Given the description of an element on the screen output the (x, y) to click on. 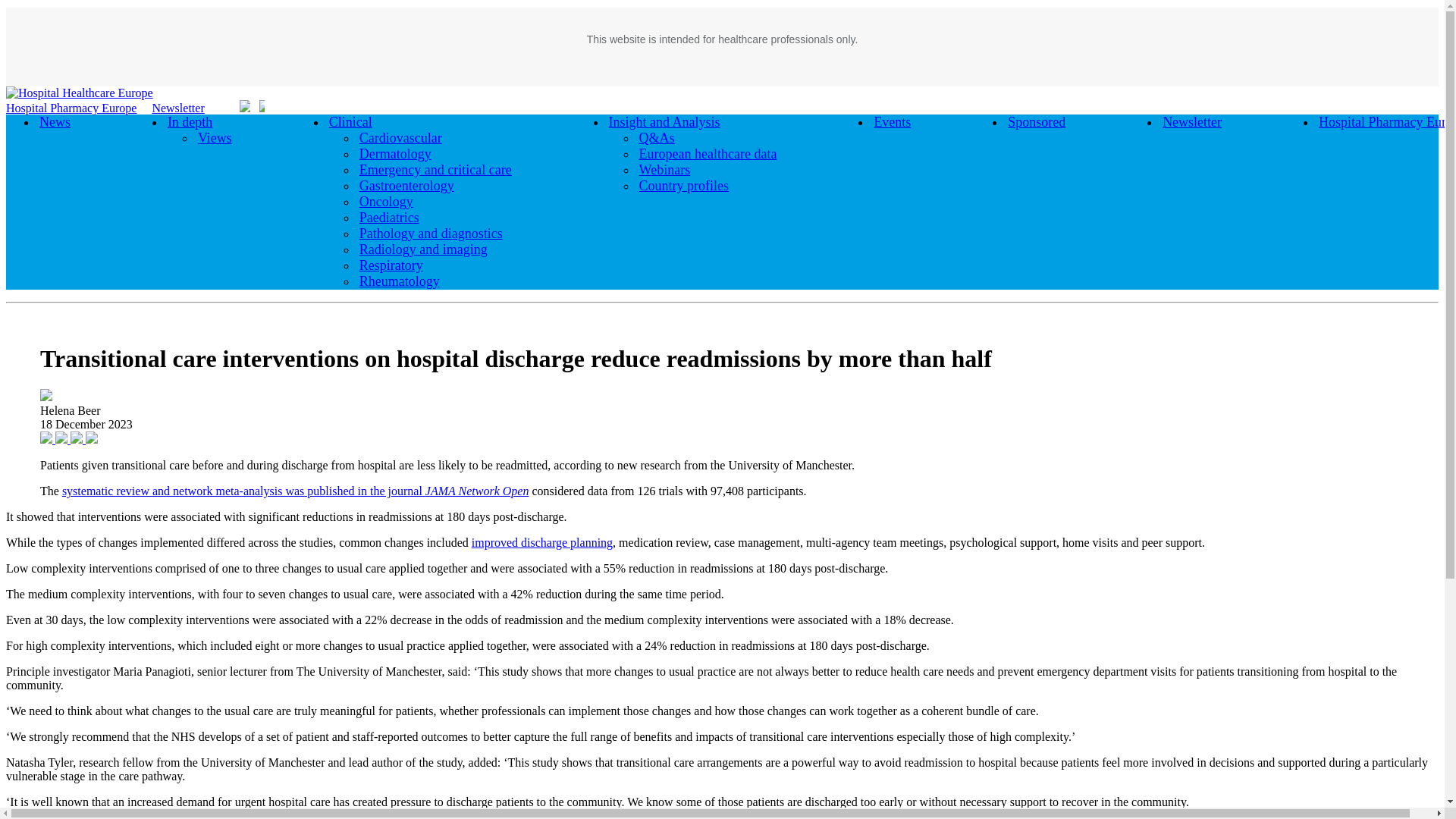
Clinical (350, 121)
Cardiovascular (400, 137)
In depth (189, 121)
Country profiles (684, 185)
Hospital Pharmacy Europe (70, 107)
Rheumatology (399, 281)
Newsletter (177, 107)
European healthcare data (708, 153)
Insight and Analysis (664, 121)
Pathology and diagnostics (430, 233)
Events (892, 121)
improved discharge planning (541, 542)
Webinars (665, 169)
Gastroenterology (406, 185)
